Given the description of an element on the screen output the (x, y) to click on. 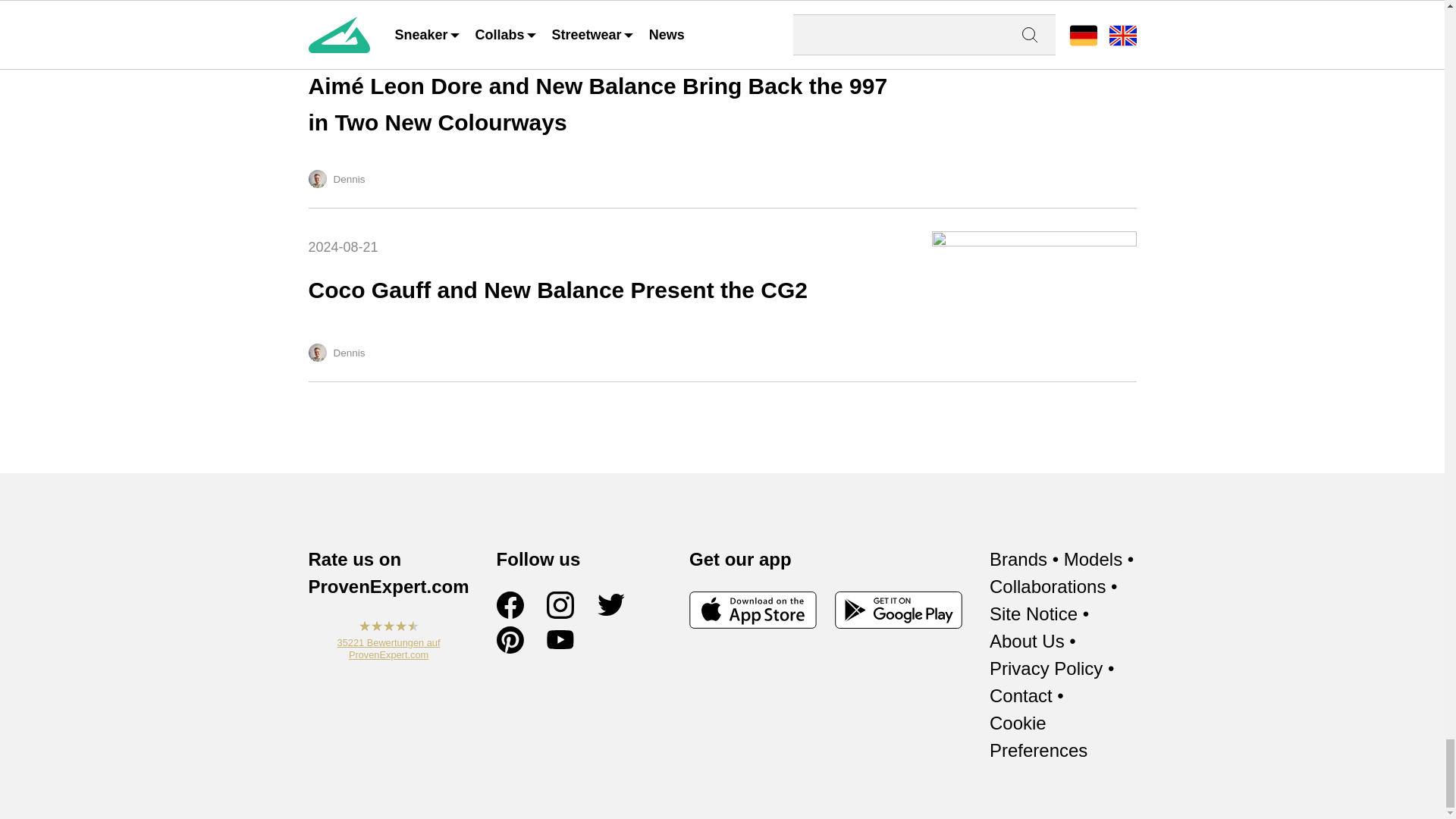
Dennis (721, 294)
Dennis (316, 352)
